Given the description of an element on the screen output the (x, y) to click on. 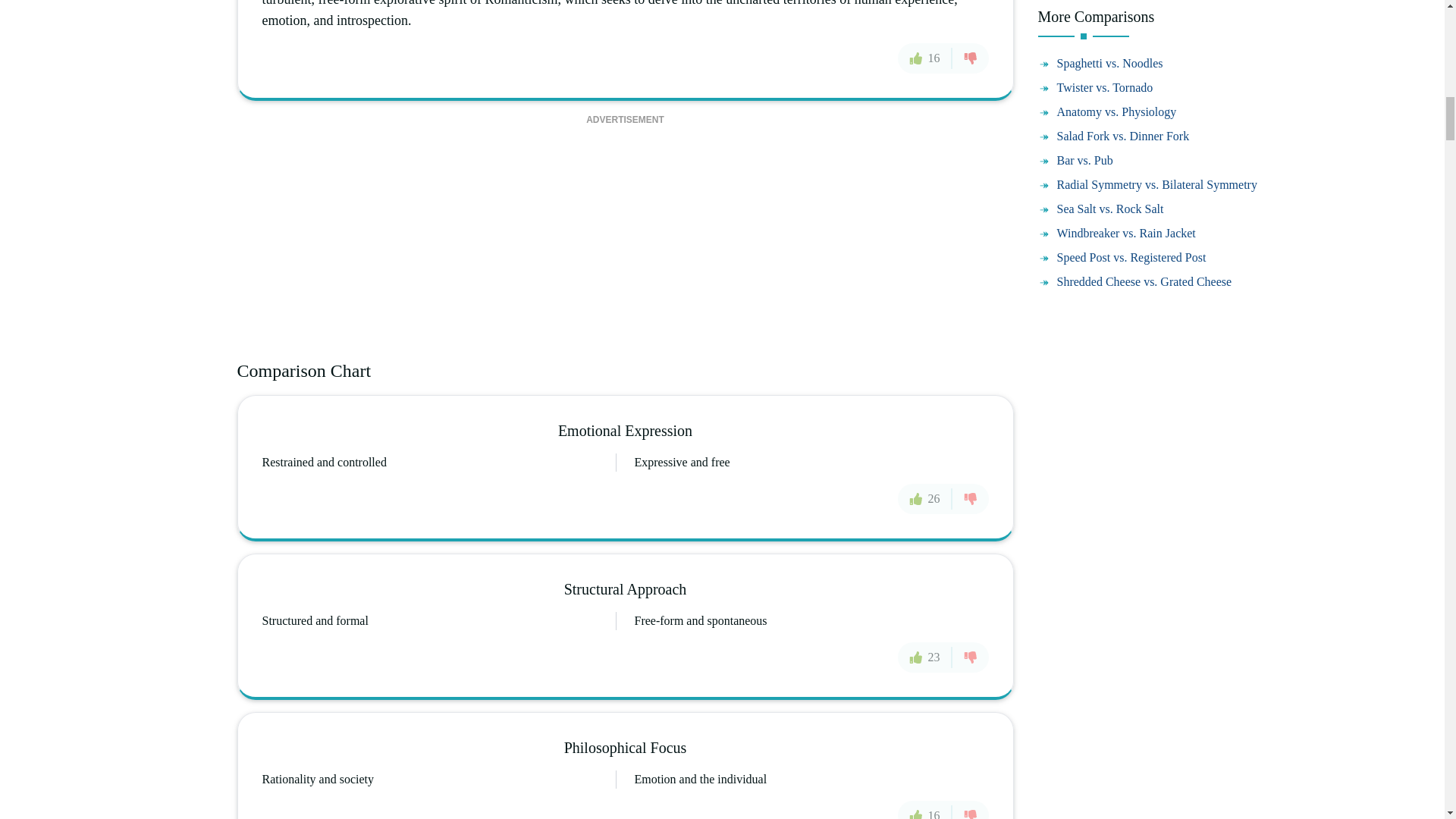
23 (925, 657)
26 (925, 499)
16 (925, 58)
16 (925, 809)
